Given the description of an element on the screen output the (x, y) to click on. 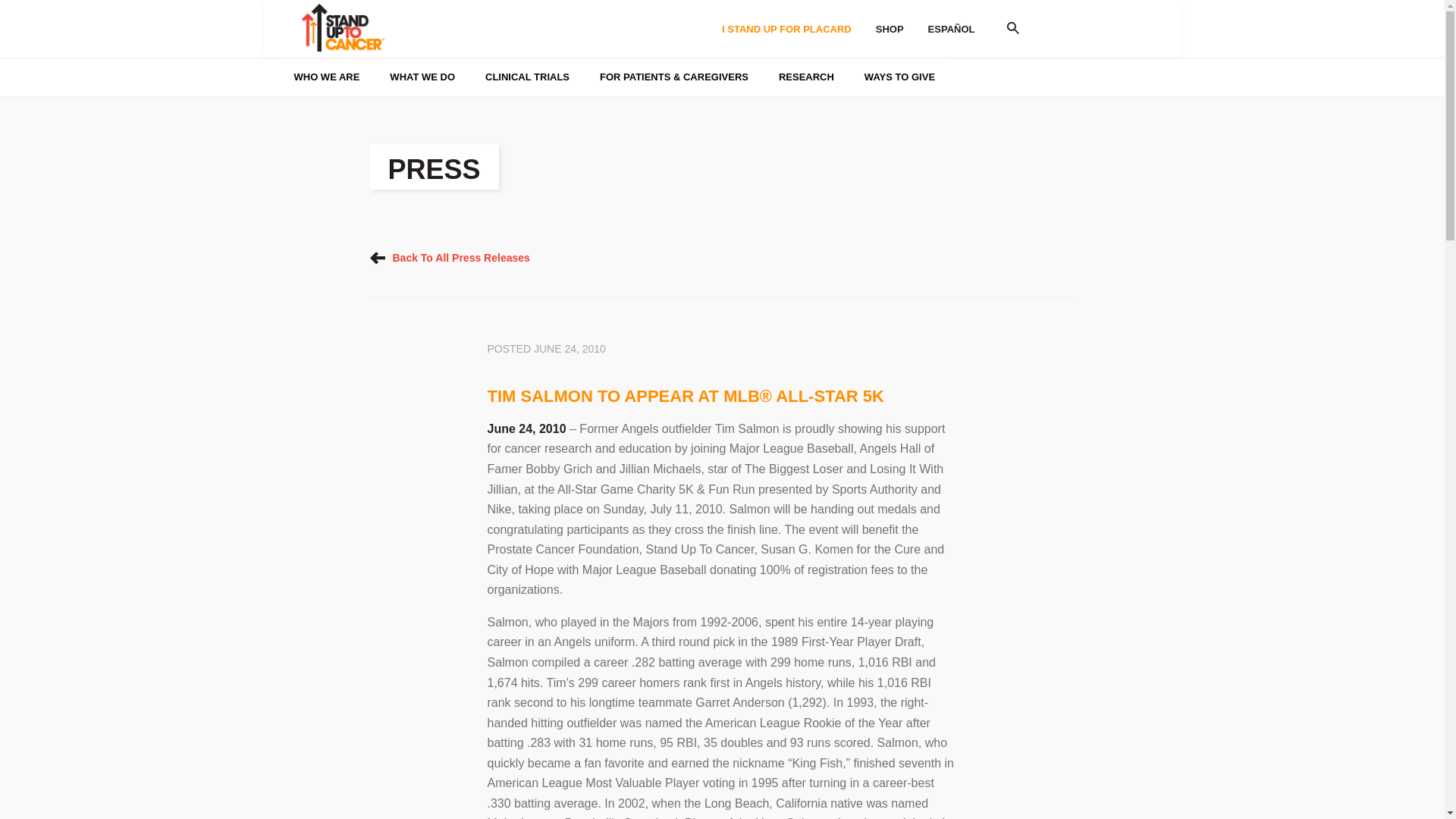
SHOP (889, 28)
I STAND UP FOR PLACARD (786, 28)
The SU2C Show (611, 17)
RESEARCH (805, 77)
Visit What We Do (390, 58)
WHO WE ARE (327, 77)
CLINICAL TRIALS (527, 77)
Science Leadership (611, 12)
Visit Who We Are (390, 60)
Research Portfolio (610, 12)
